Given the description of an element on the screen output the (x, y) to click on. 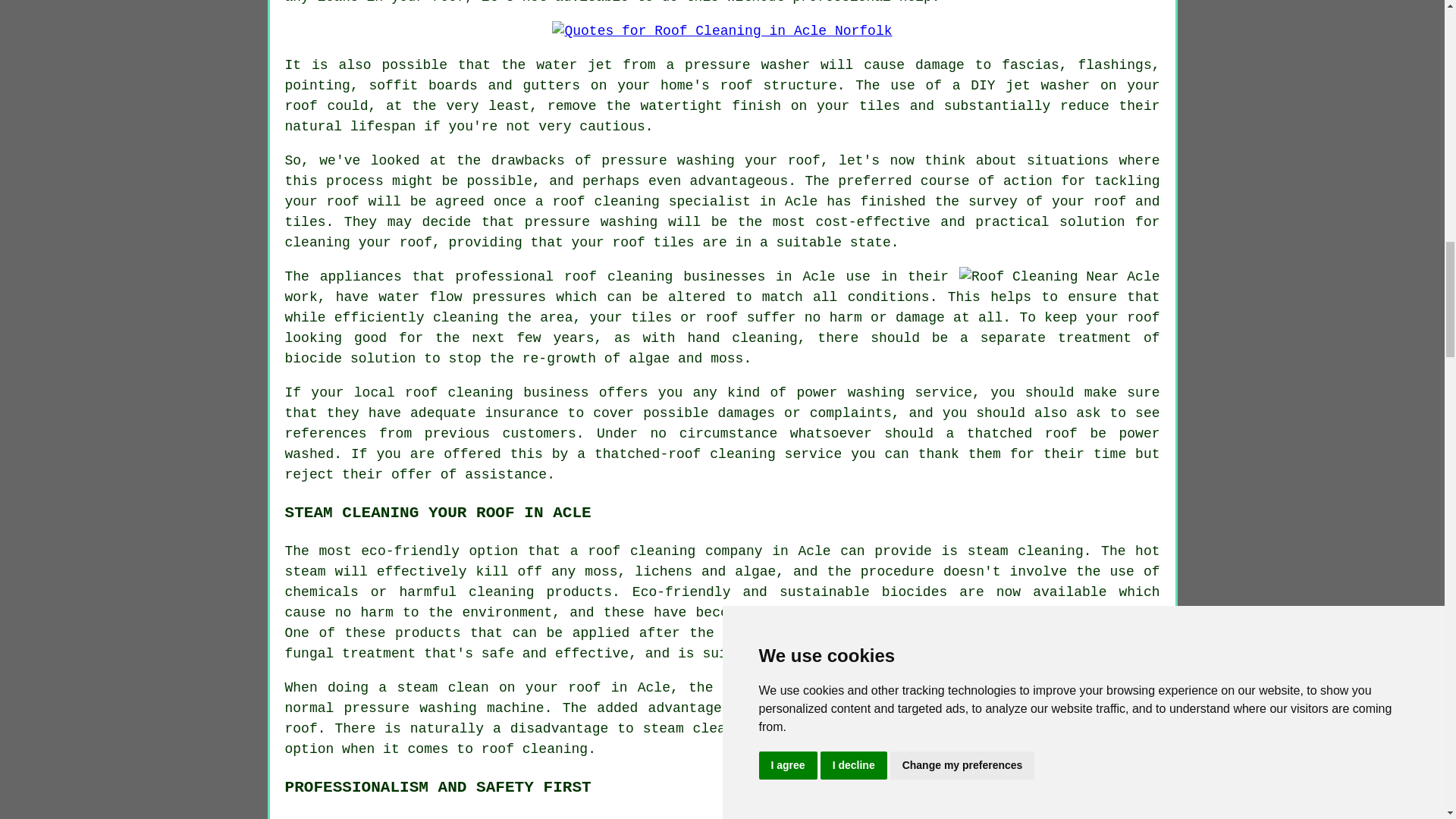
Roof Cleaning Near Acle (1058, 276)
cleaning (639, 276)
roof (604, 550)
Quotes for Roof Cleaning in Acle Norfolk (721, 31)
